Given the description of an element on the screen output the (x, y) to click on. 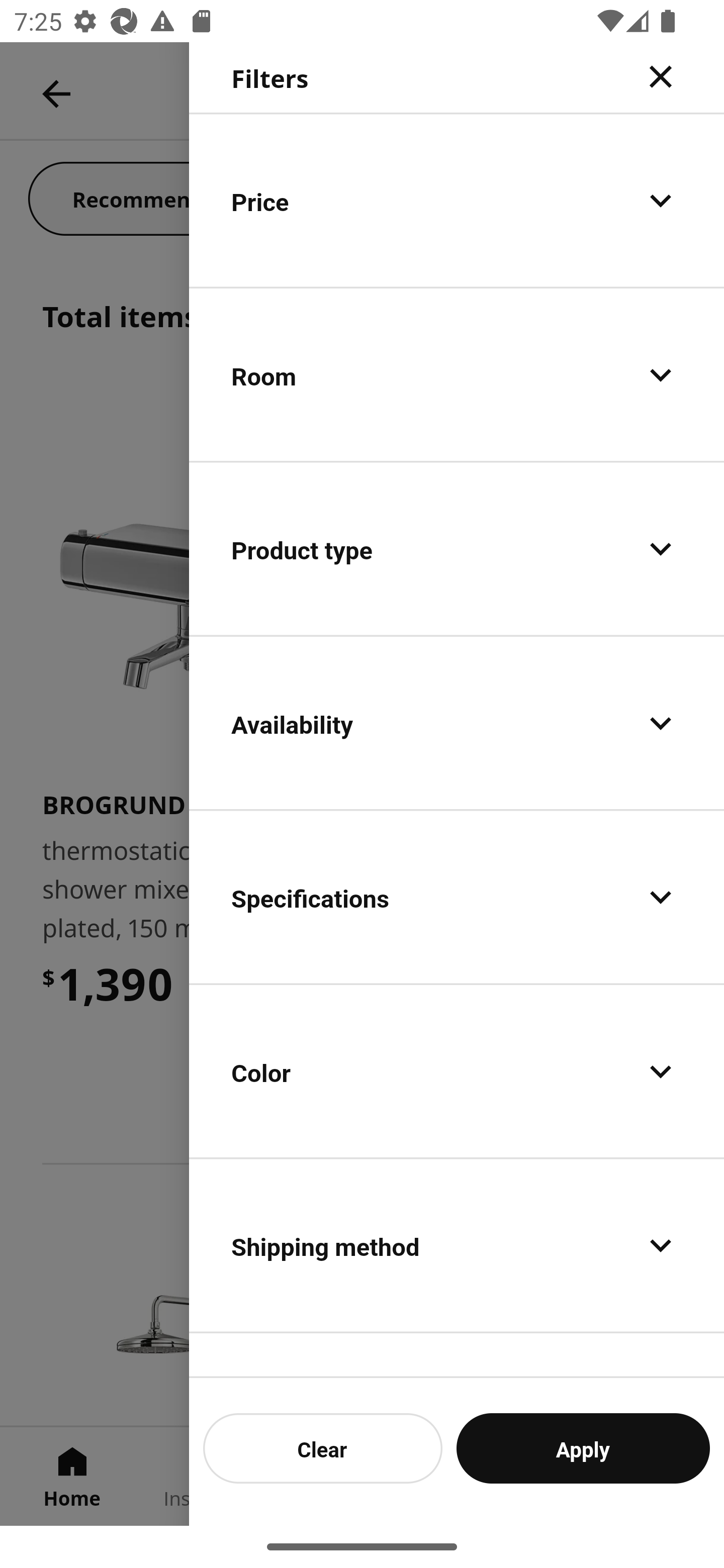
Price (456, 200)
Room (456, 374)
Product type (456, 548)
Availability (456, 722)
Specifications (456, 896)
Color (456, 1070)
Shipping method (456, 1244)
Clear (322, 1447)
Apply (583, 1447)
